Given the description of an element on the screen output the (x, y) to click on. 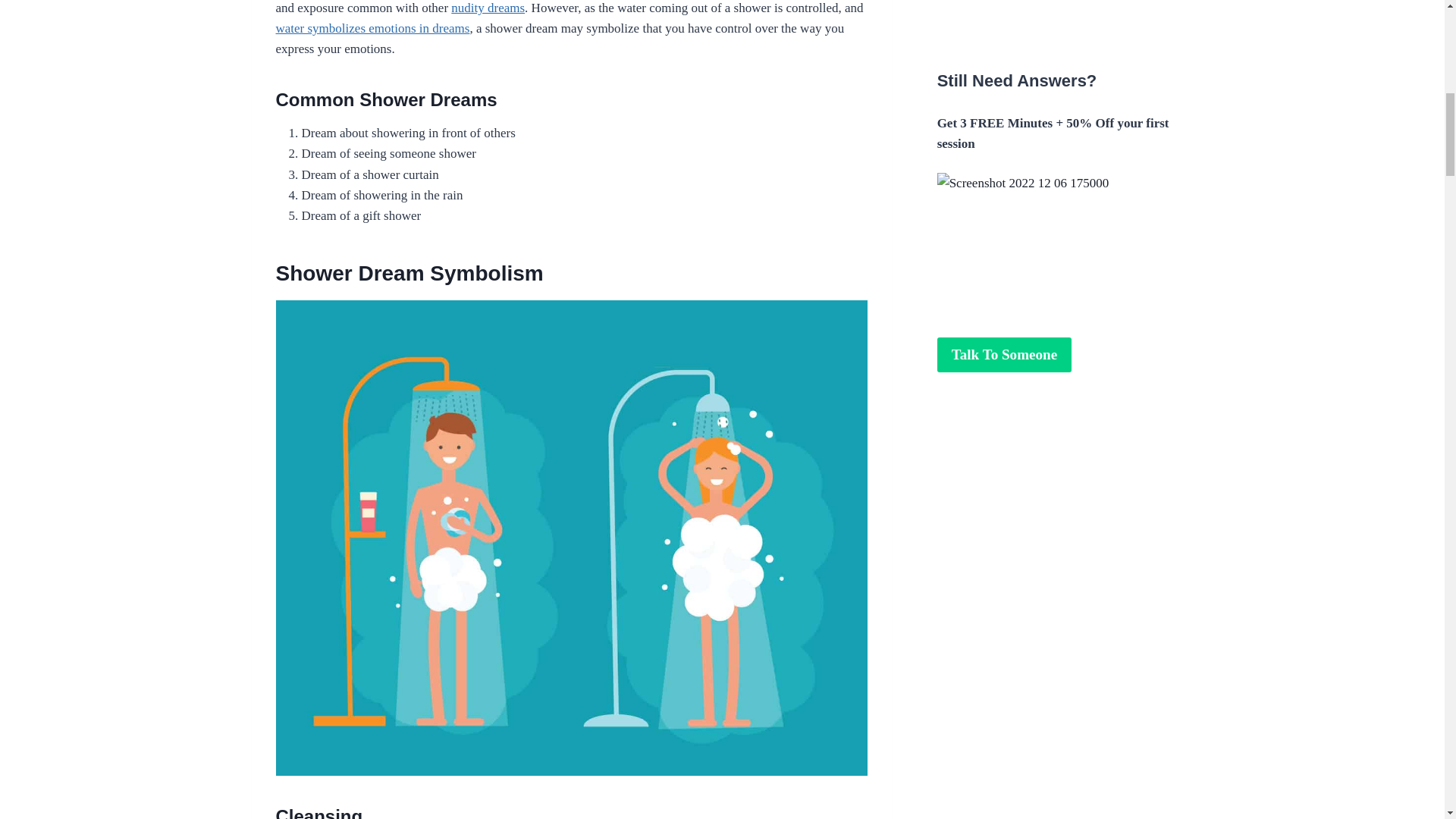
water symbolizes emotions in dreams (373, 28)
nudity dreams (487, 7)
